Given the description of an element on the screen output the (x, y) to click on. 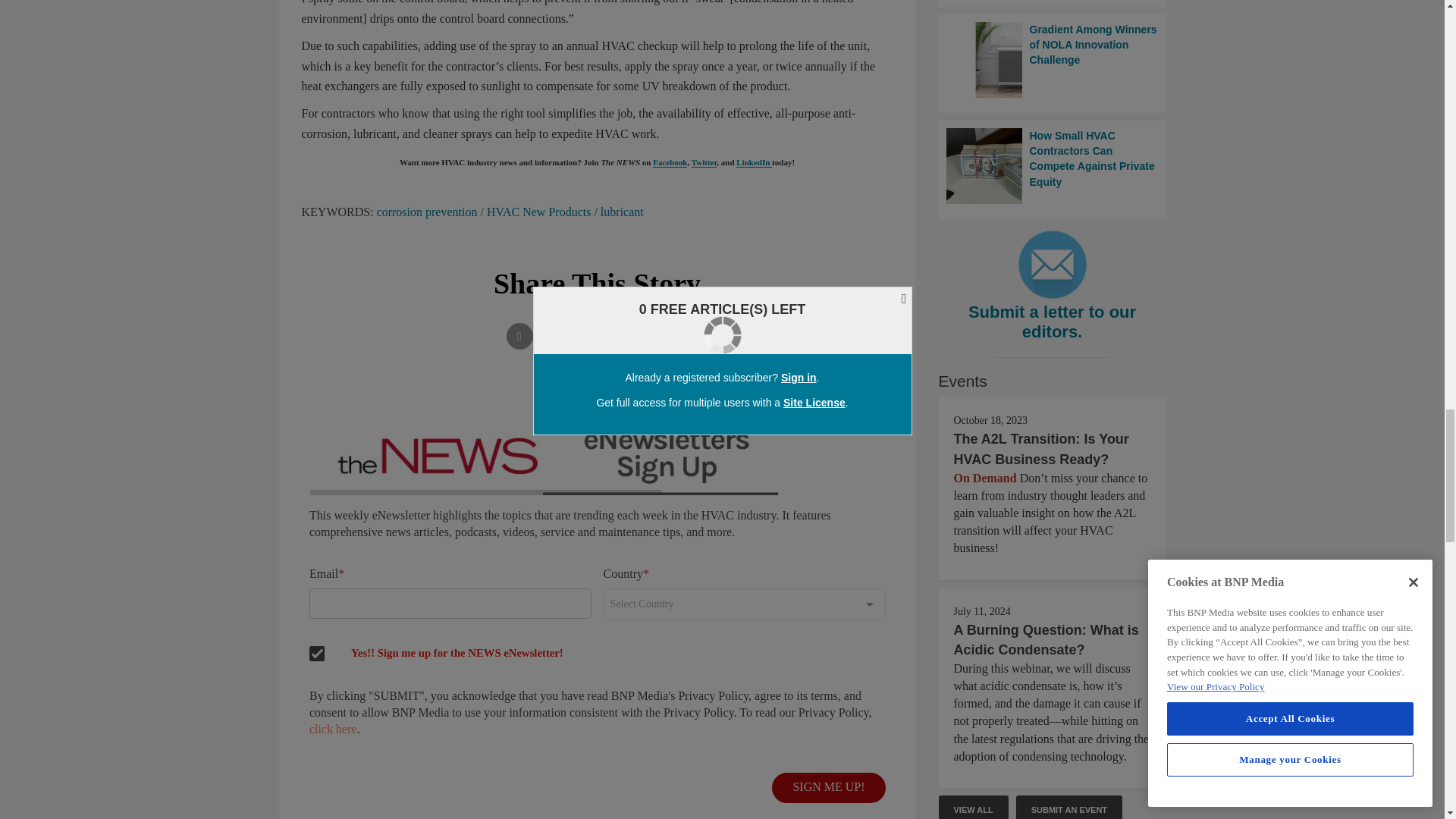
The A2L Transition: Is Your HVAC Business Ready? (1041, 448)
Gradient Among Winners of NOLA Innovation Challenge (1052, 59)
